Given the description of an element on the screen output the (x, y) to click on. 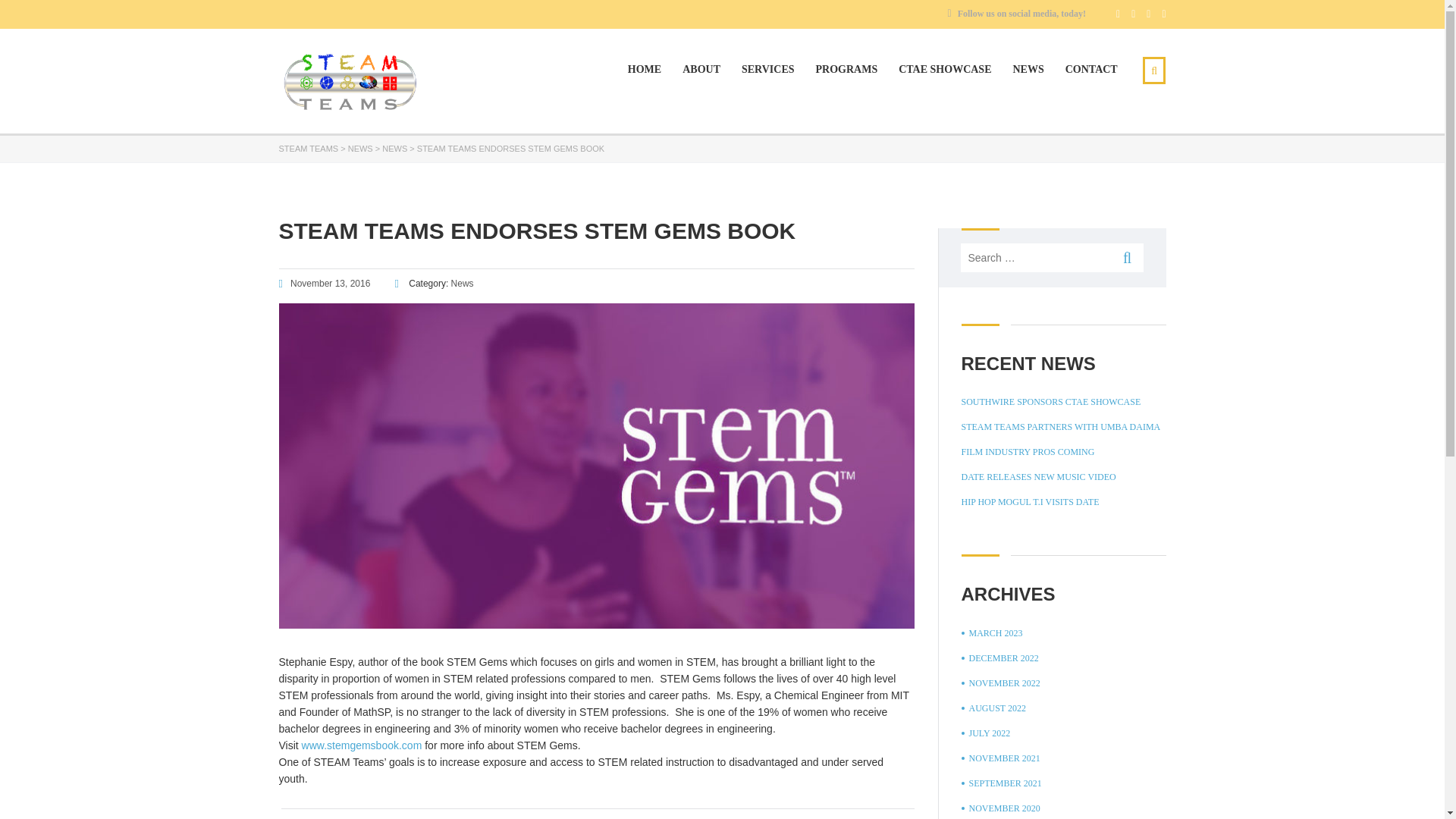
SERVICES (767, 69)
NEWS (394, 148)
NOVEMBER 2022 (1000, 682)
HOME (644, 69)
NEWS (359, 148)
ABOUT (701, 69)
Go to Steam Teams. (309, 148)
DATE Releases New Music Video (1038, 476)
SOUTHWIRE SPONSORS CTAE SHOWCASE (1050, 401)
Hip Hop Mogul T.i visits DATE (1029, 501)
CONTACT (1091, 69)
FILM INDUSTRY PROS COMING (1027, 451)
PROGRAMS (846, 69)
News (462, 283)
Go to the News Category archives. (394, 148)
